Given the description of an element on the screen output the (x, y) to click on. 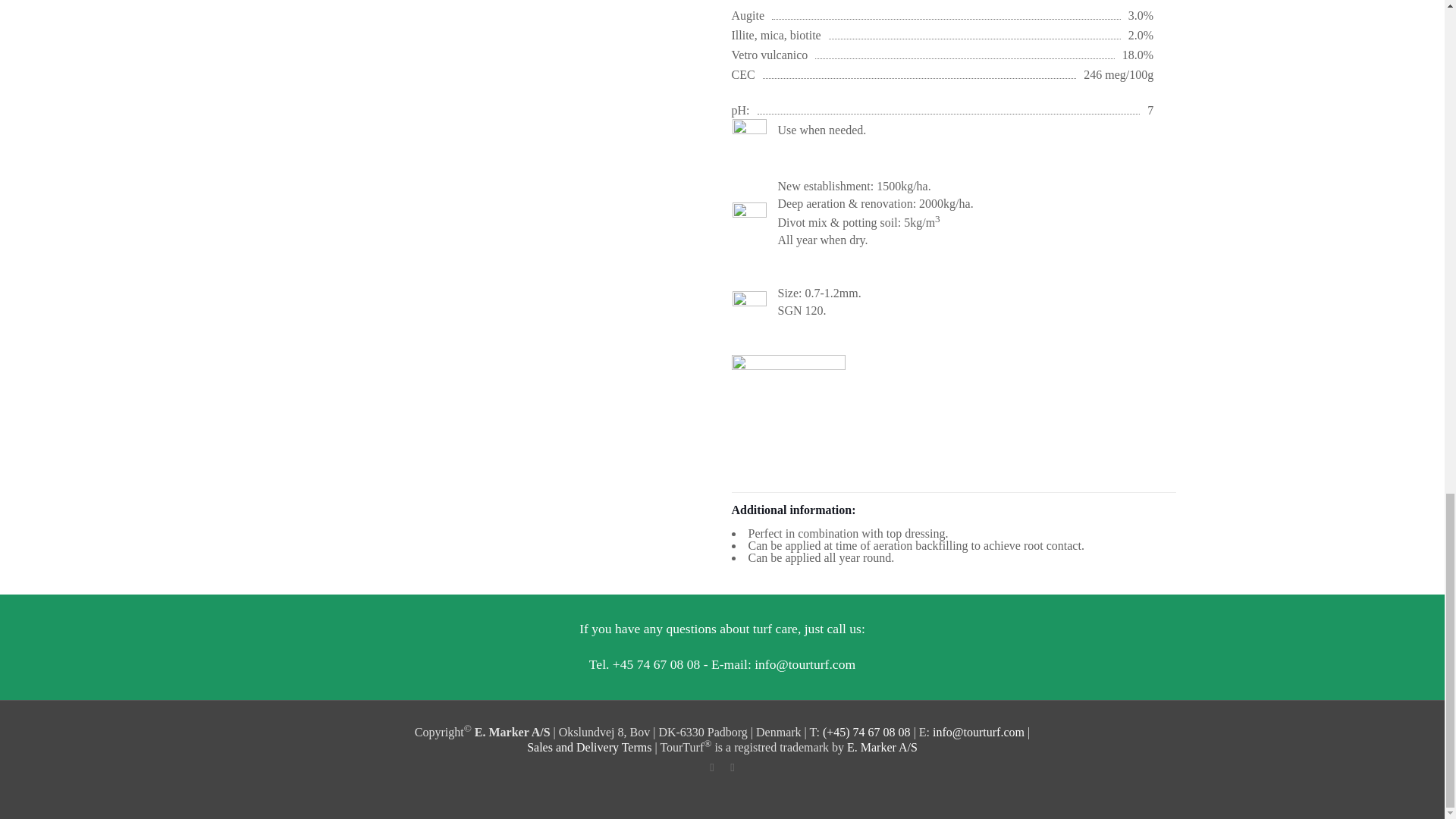
Instagram (733, 767)
Facebook (711, 767)
